Given the description of an element on the screen output the (x, y) to click on. 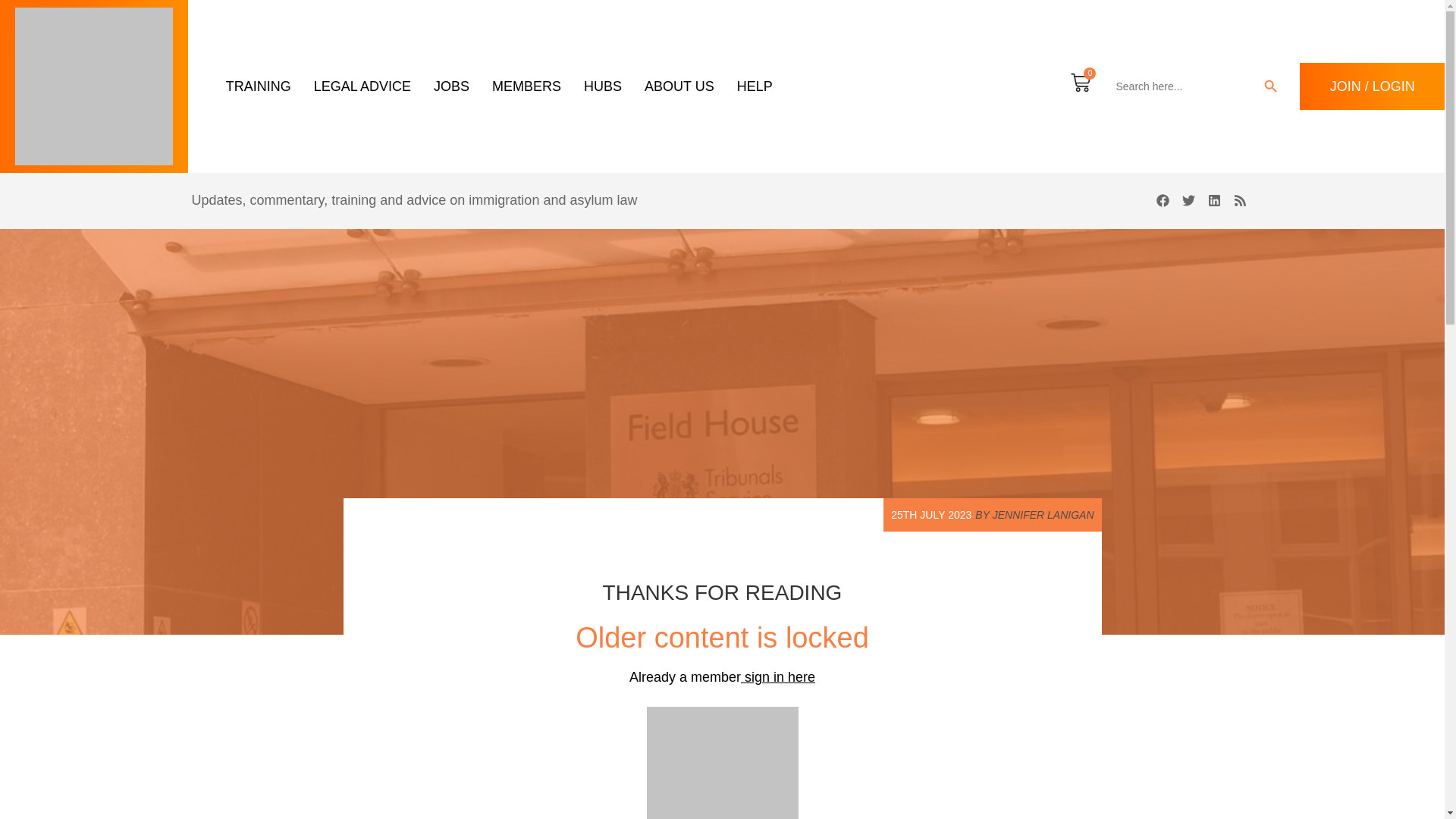
ABOUT US (679, 85)
TRAINING (258, 85)
LEGAL ADVICE (362, 85)
MEMBERS (526, 85)
